Given the description of an element on the screen output the (x, y) to click on. 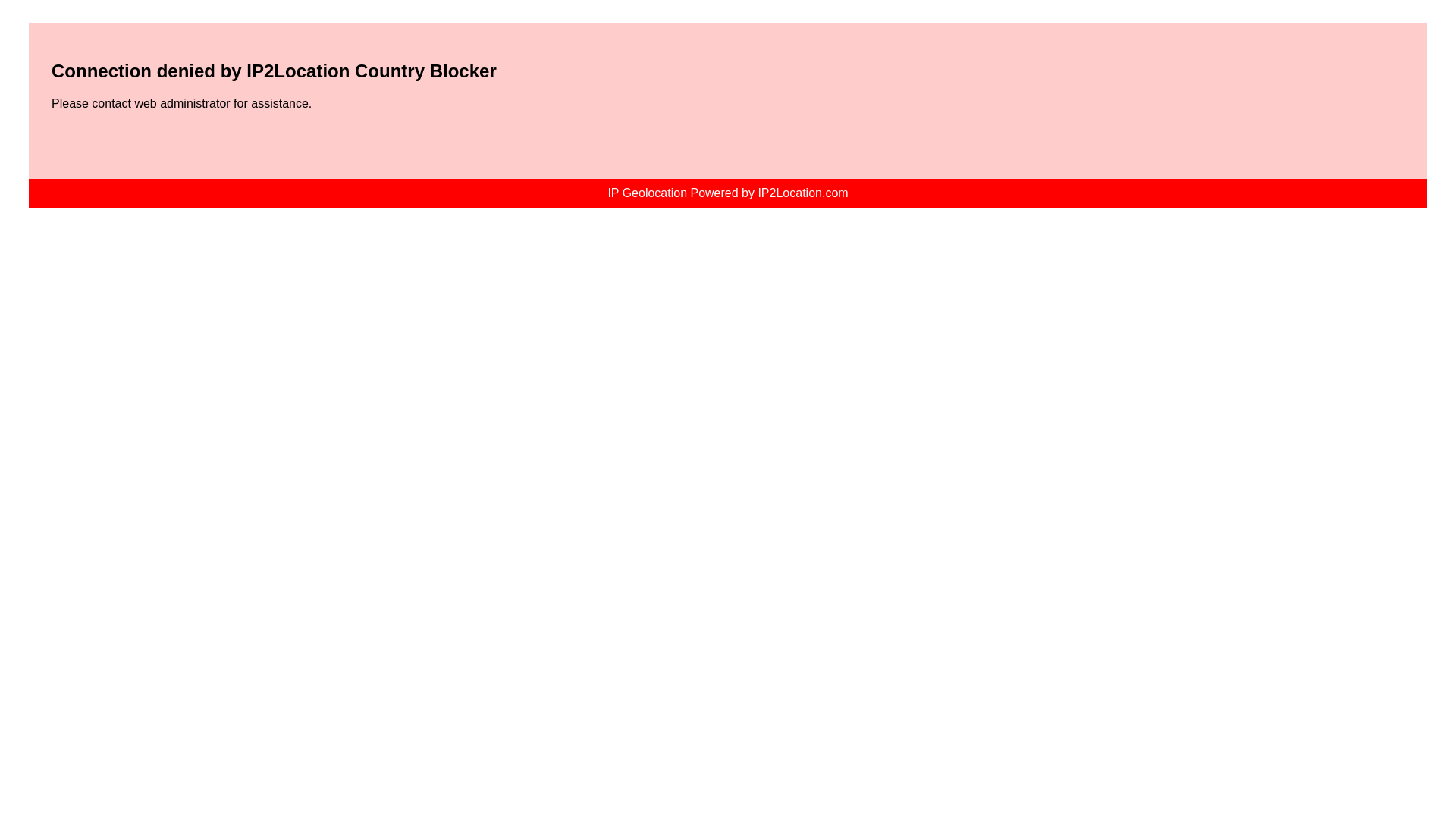
IP Geolocation Powered by IP2Location.com Element type: text (727, 192)
